Given the description of an element on the screen output the (x, y) to click on. 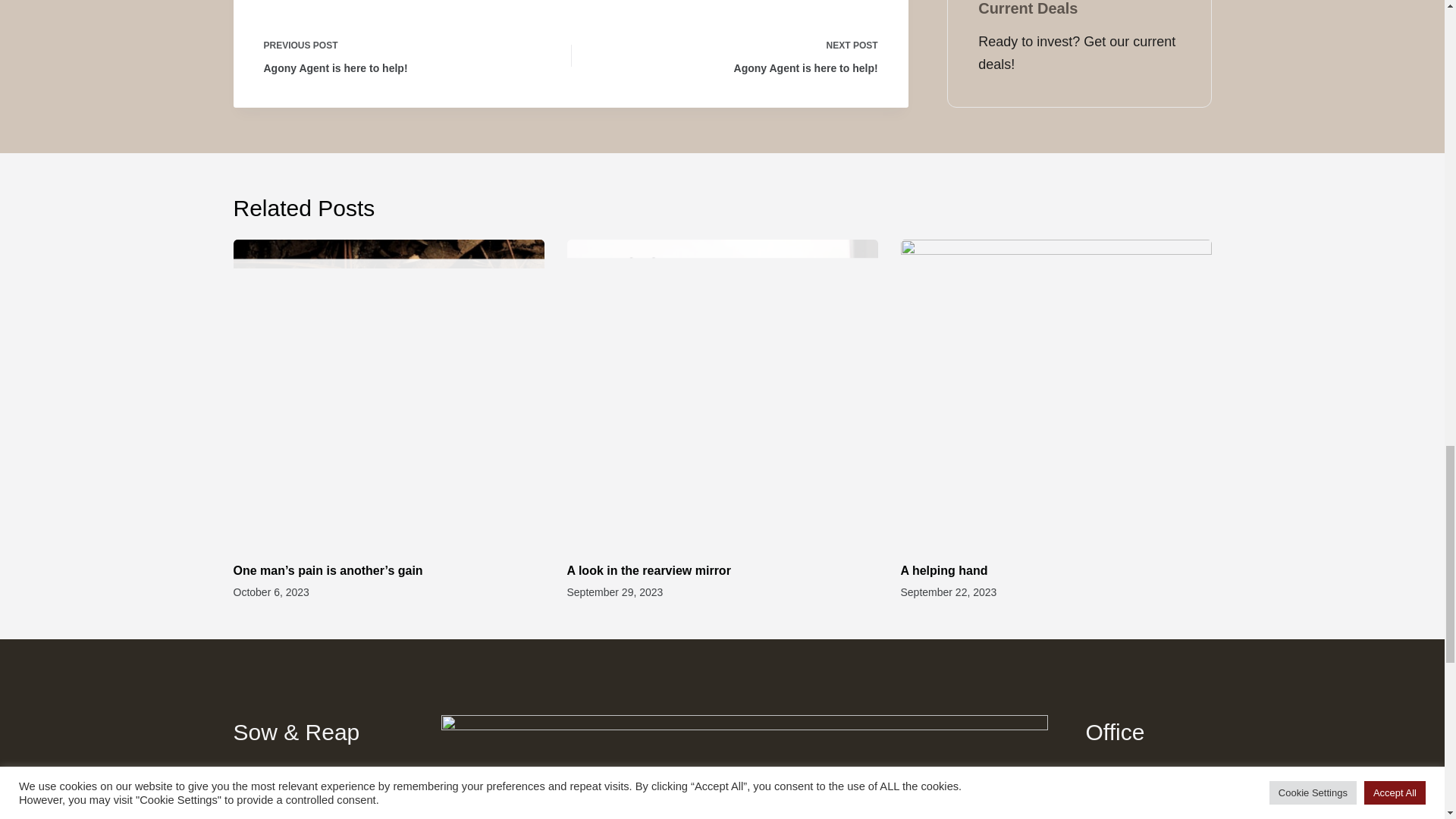
A look in the rearview mirror   (405, 54)
A helping hand (652, 570)
